Given the description of an element on the screen output the (x, y) to click on. 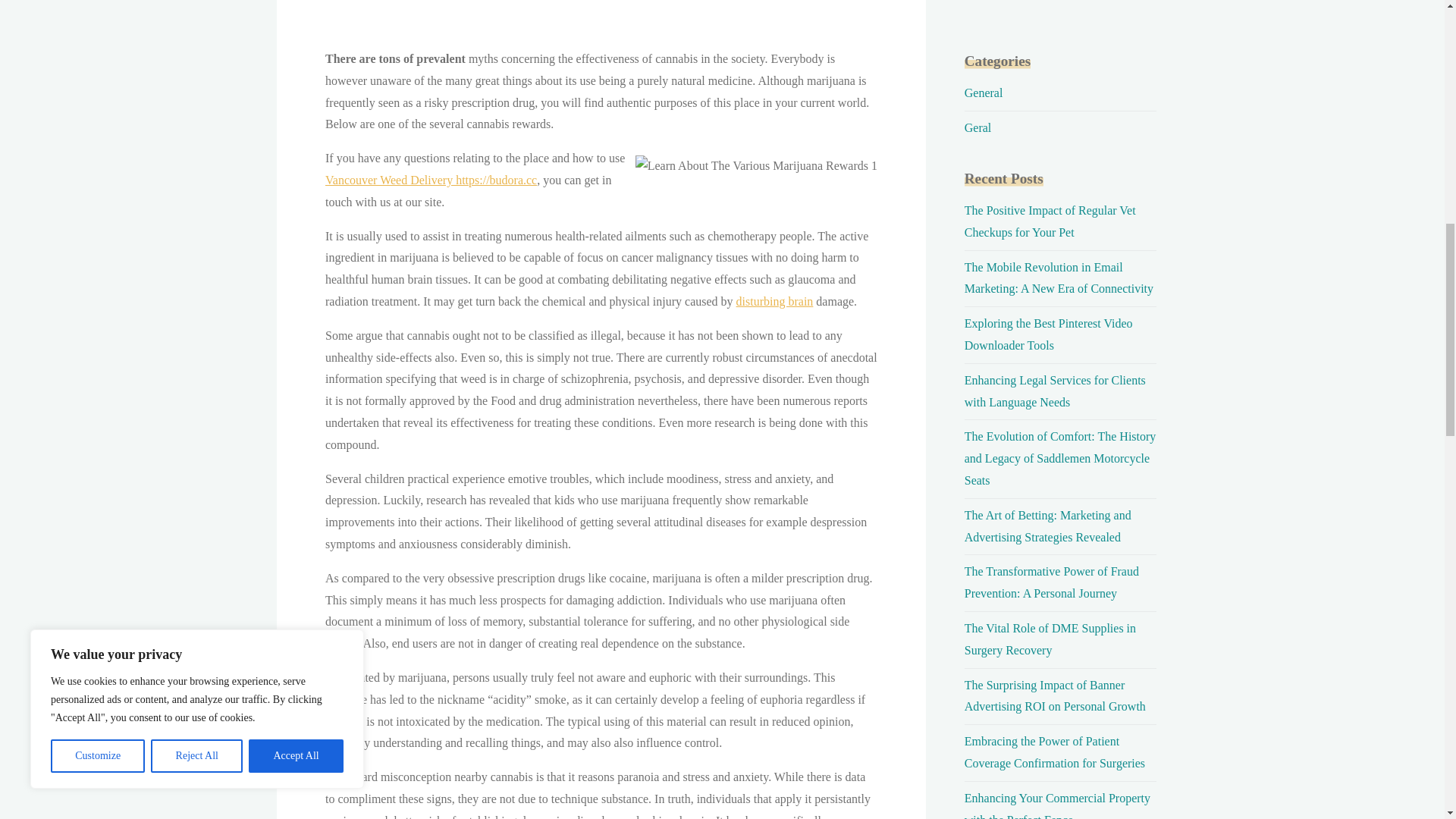
disturbing brain (773, 300)
General (983, 92)
Geral (977, 127)
The Positive Impact of Regular Vet Checkups for Your Pet (1049, 221)
